Given the description of an element on the screen output the (x, y) to click on. 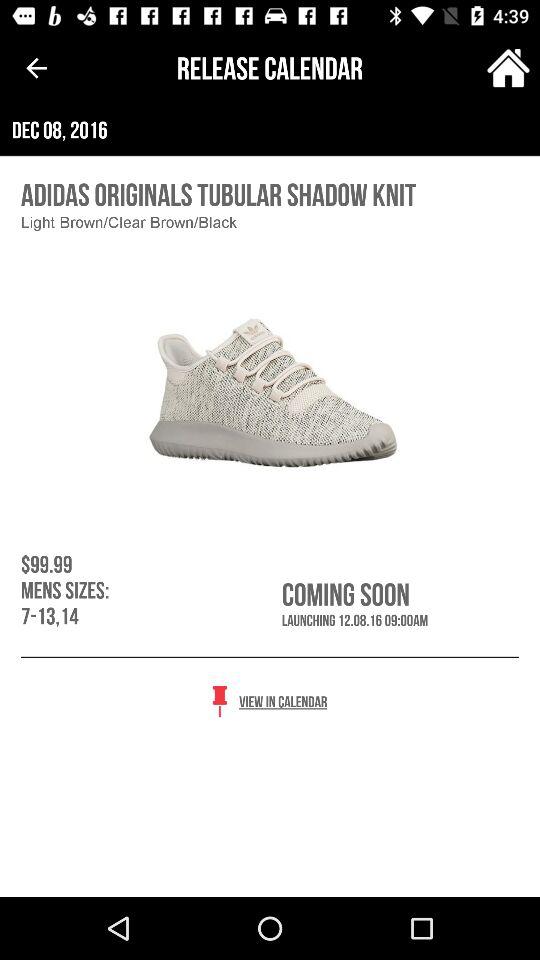
turn off icon above the dec 08, 2016 icon (36, 68)
